Given the description of an element on the screen output the (x, y) to click on. 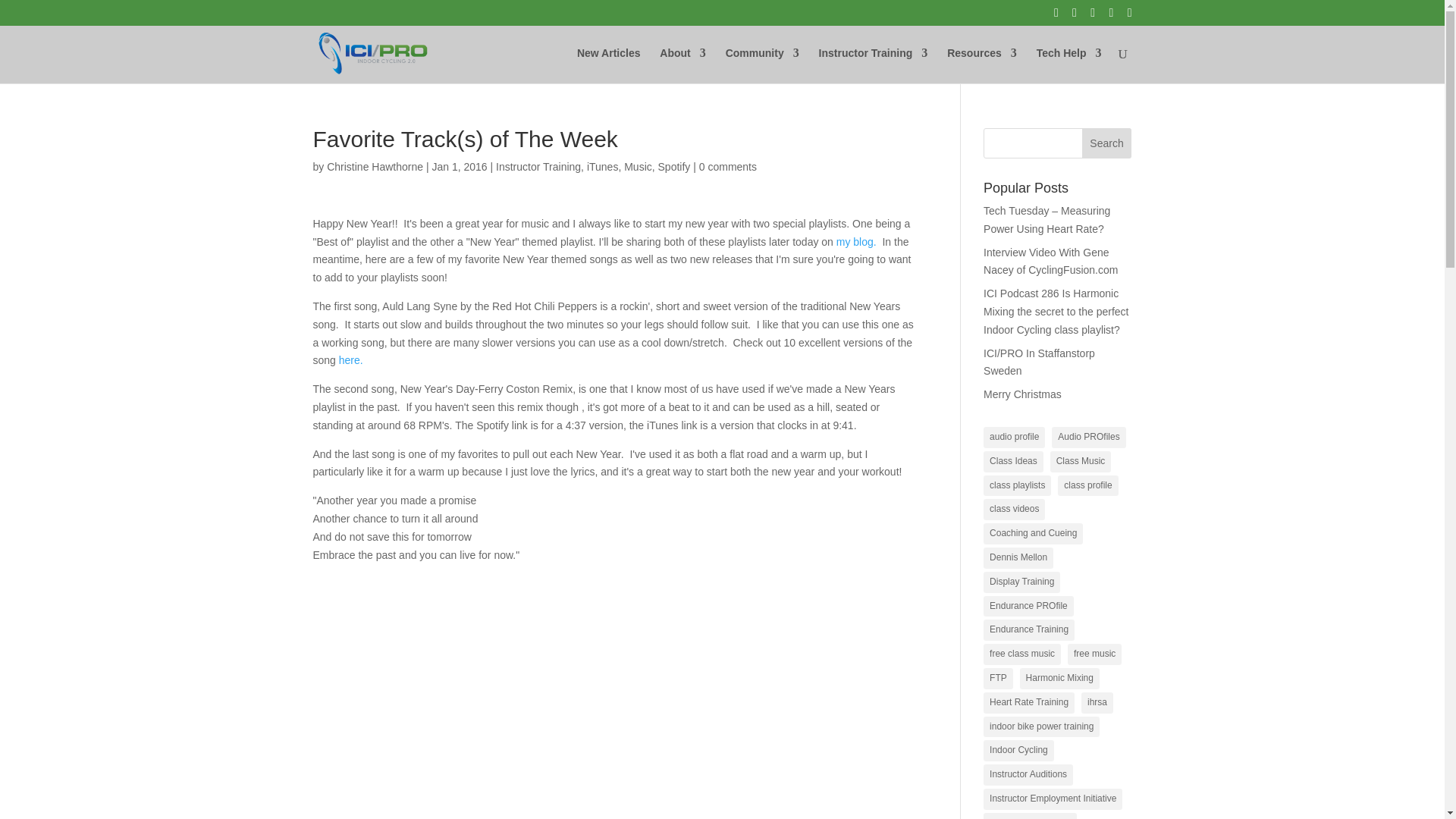
About (681, 65)
New Articles (608, 65)
Christine Hawthorne (374, 166)
Posts by Christine Hawthorne (374, 166)
Resources (981, 65)
Search (1106, 142)
Tech Help (1069, 65)
Instructor Training (538, 166)
Music (638, 166)
